Given the description of an element on the screen output the (x, y) to click on. 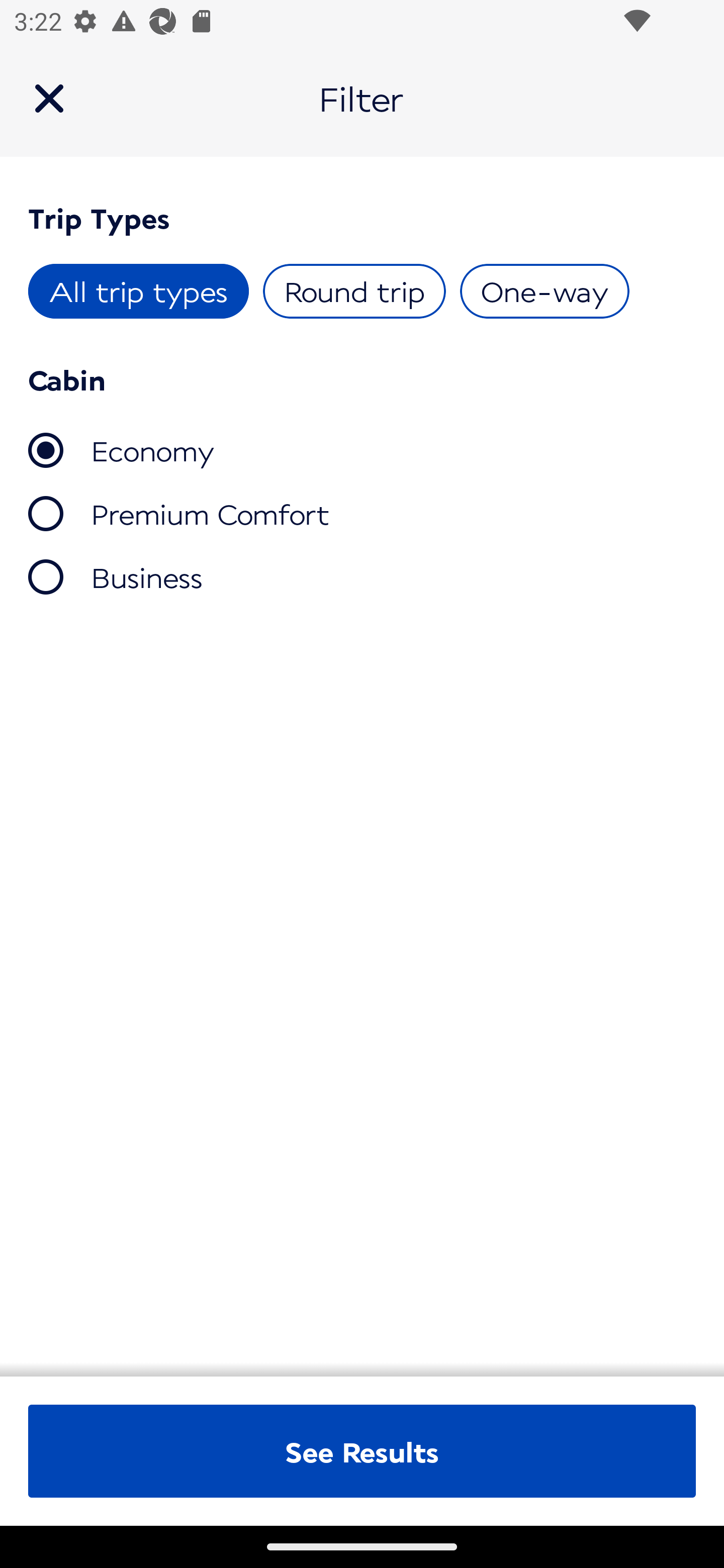
All trip types (138, 291)
Round trip (353, 291)
One-way (544, 291)
See Results (361, 1450)
